Given the description of an element on the screen output the (x, y) to click on. 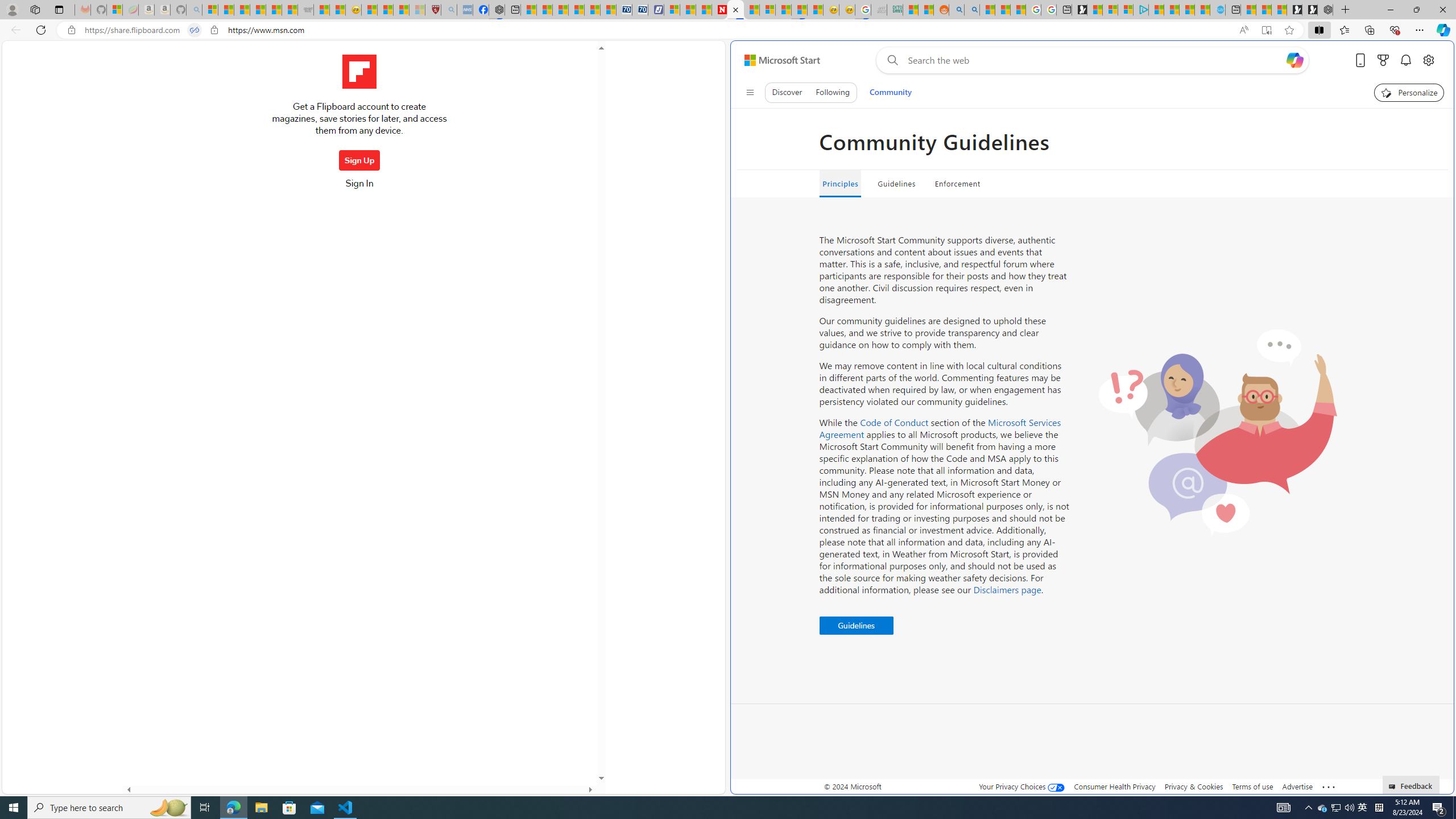
Code of Conduct (894, 422)
Cheap Hotels - Save70.com (639, 9)
Consumer Health Privacy (1115, 786)
Trusted Community Engagement and Contributions | Guidelines (735, 9)
Stocks - MSN (289, 9)
The Weather Channel - MSN (241, 9)
Combat Siege (305, 9)
